Given the description of an element on the screen output the (x, y) to click on. 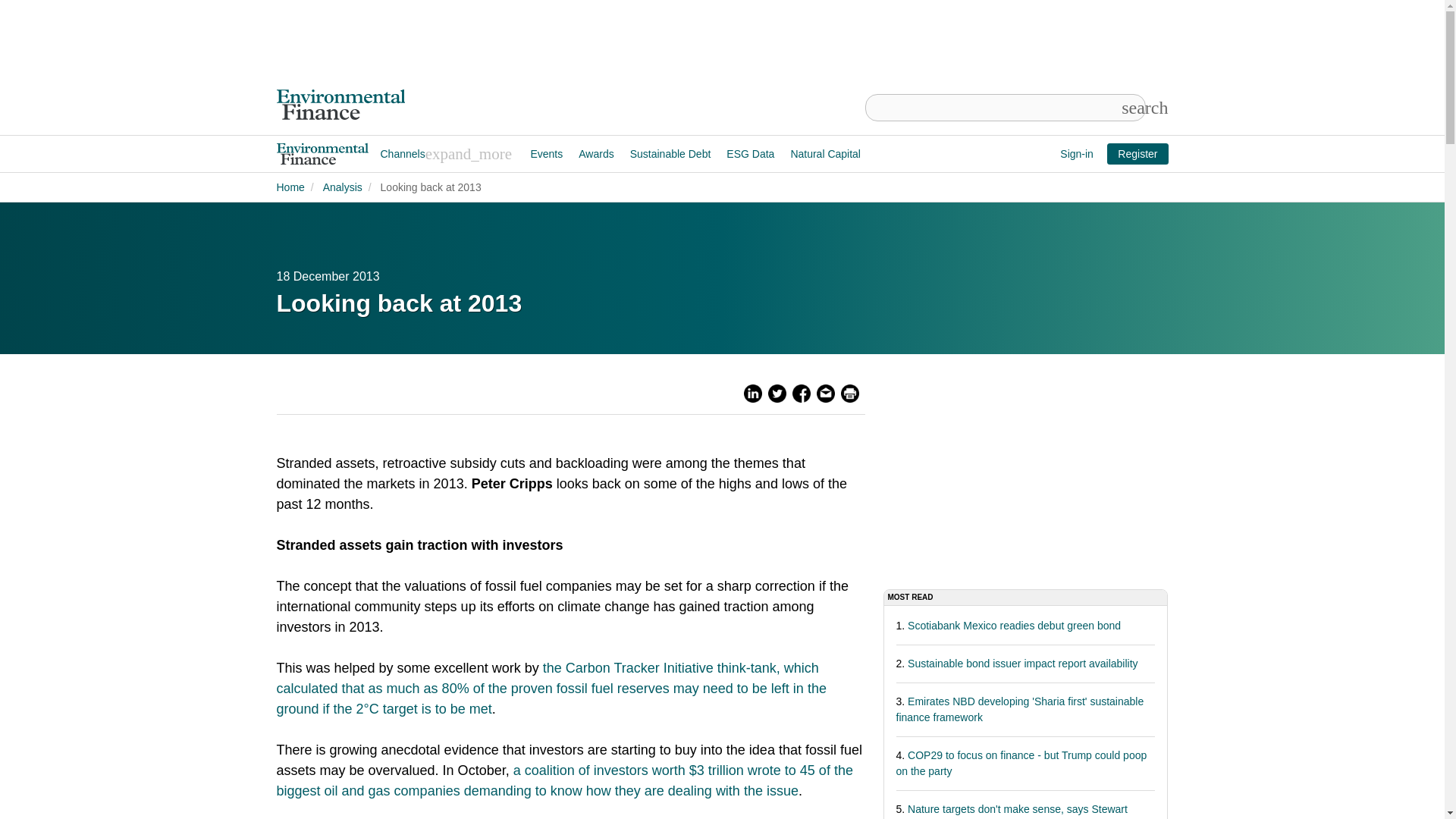
Sign-in (1076, 153)
Natural Capital (826, 153)
3rd party ad content (995, 479)
ESG Data (751, 153)
Register (1136, 153)
Events (546, 153)
Analysis (342, 186)
Awards (595, 153)
3rd party ad content (721, 42)
Sustainable Debt (670, 153)
